Given the description of an element on the screen output the (x, y) to click on. 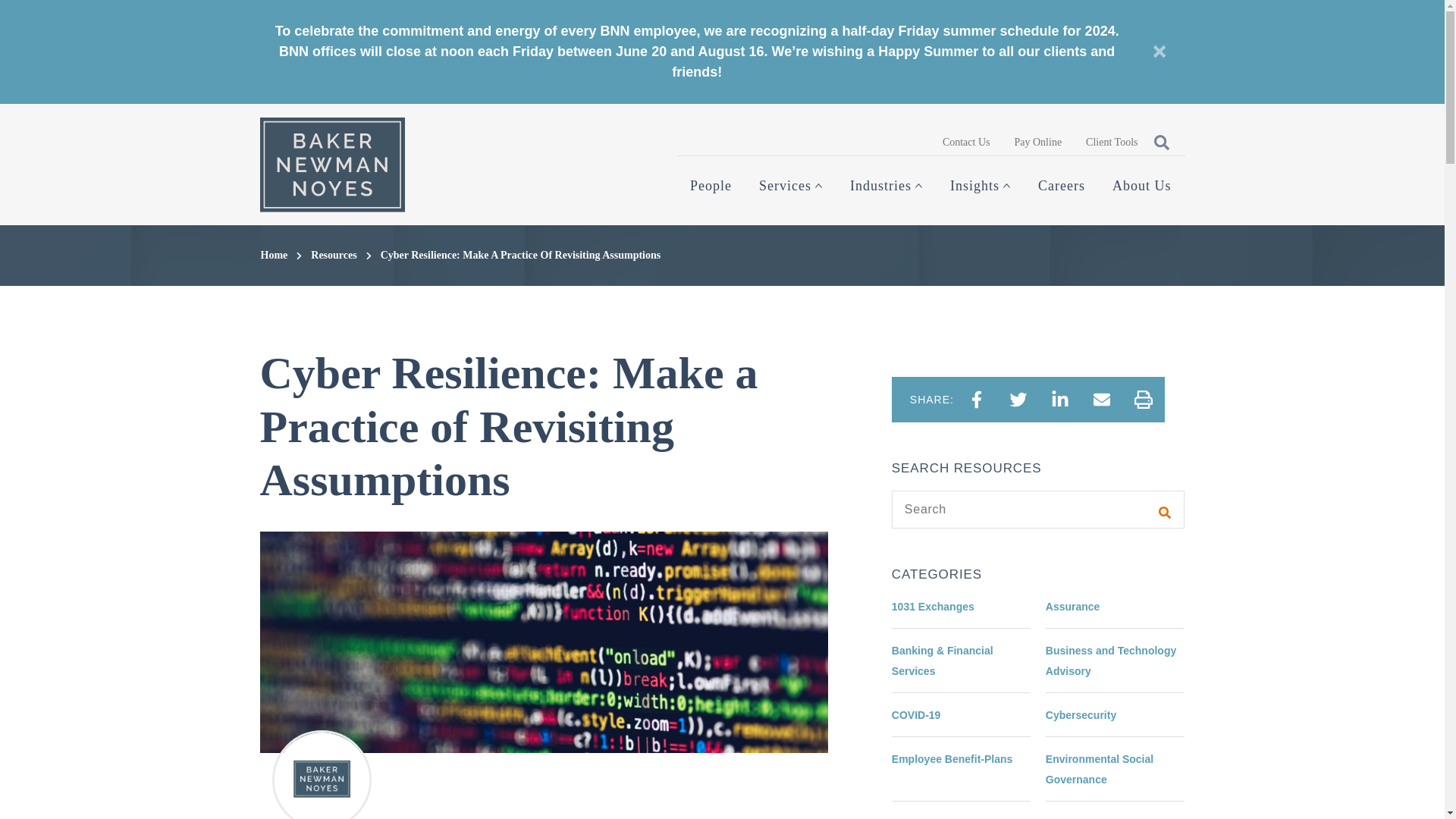
OPEN SEARCH (1161, 141)
Contact Us (966, 141)
Industries (886, 185)
People (710, 185)
Insights (980, 185)
Pay Online (1038, 141)
Baker Newman Noyes (331, 164)
Services (790, 185)
Client Tools (1112, 141)
